Given the description of an element on the screen output the (x, y) to click on. 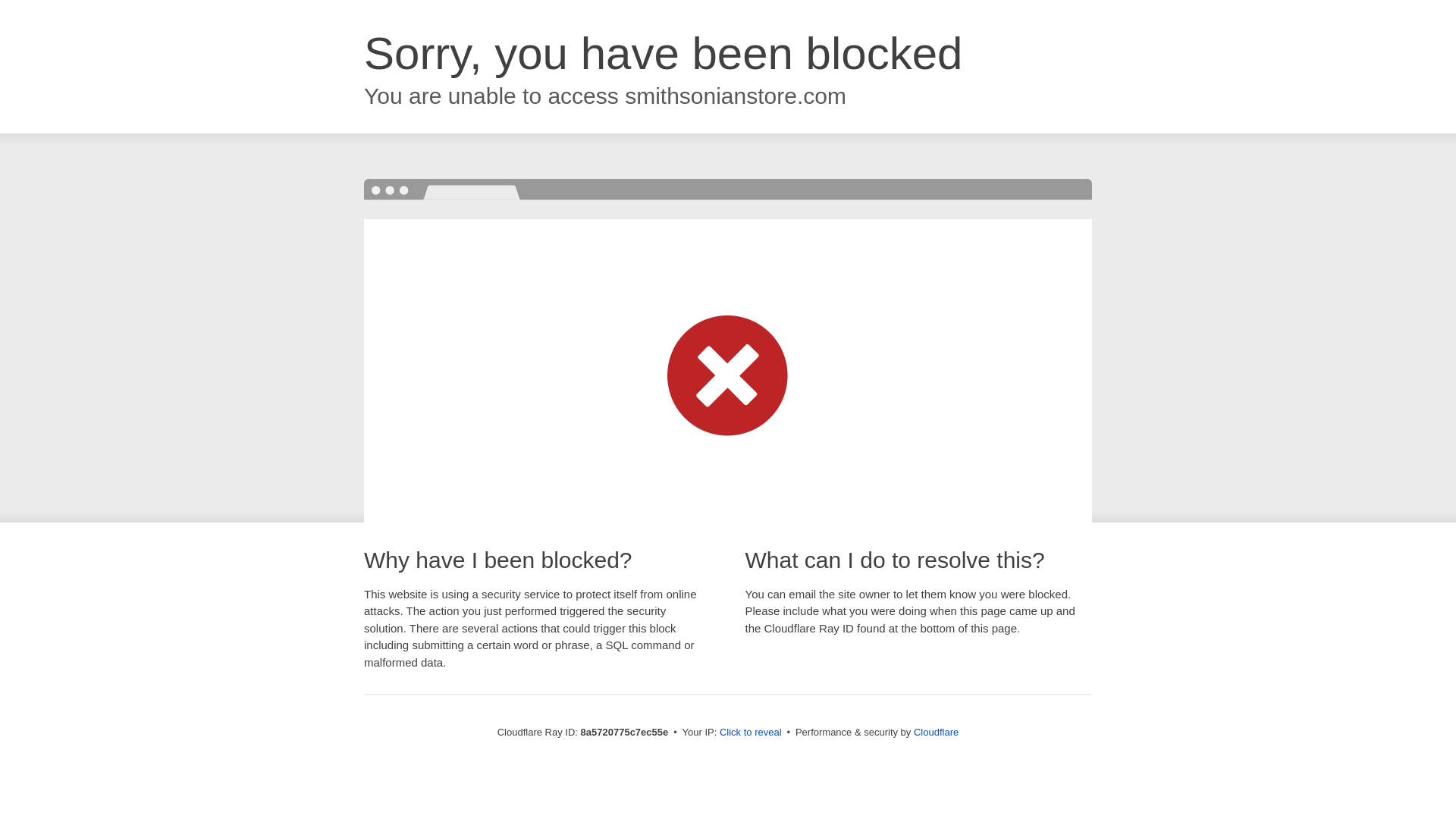
Click to reveal (750, 732)
Cloudflare (936, 731)
